Given the description of an element on the screen output the (x, y) to click on. 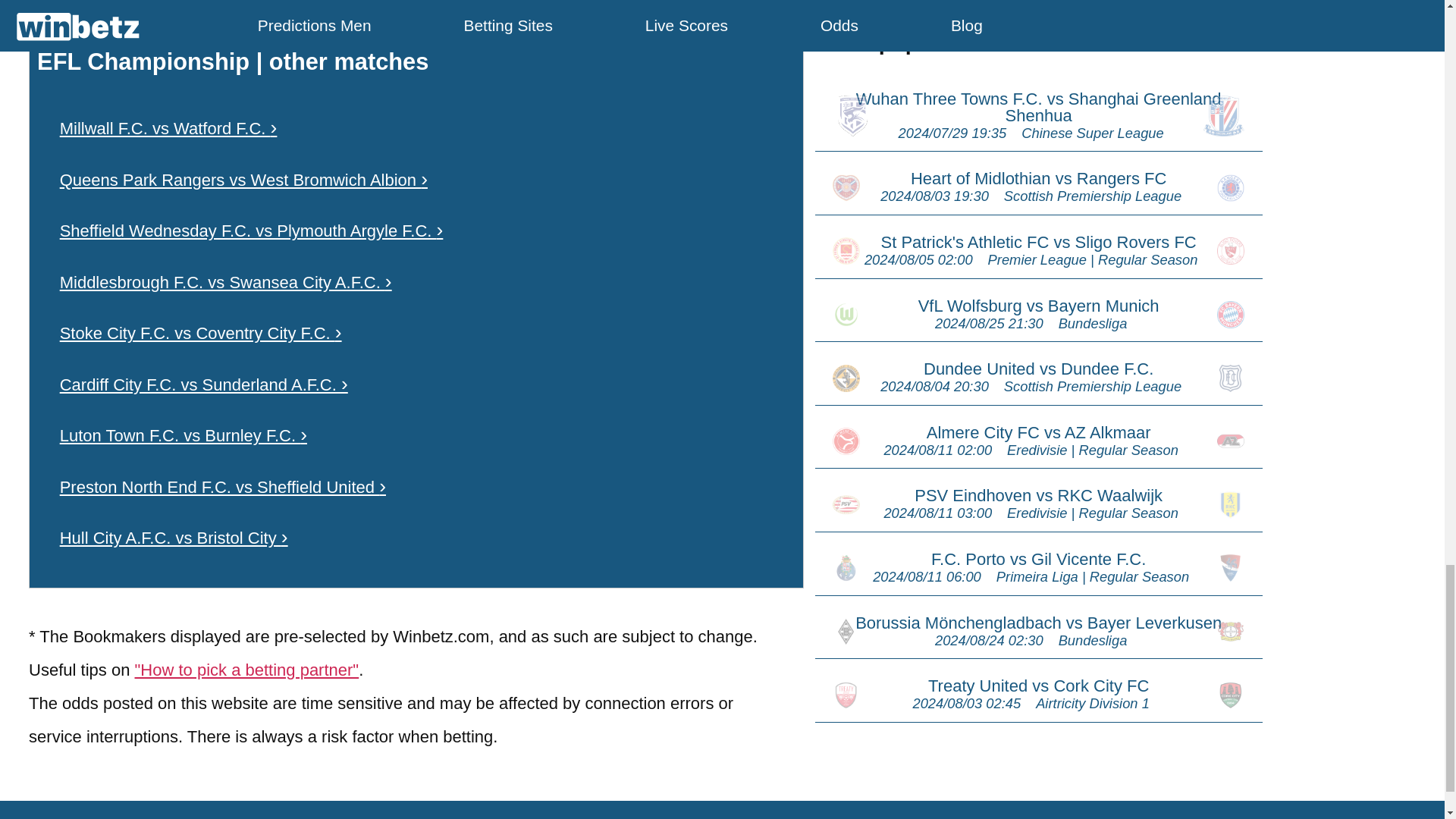
"How to pick a betting partner" (247, 669)
what is important on selecting a betting partner (247, 669)
